Given the description of an element on the screen output the (x, y) to click on. 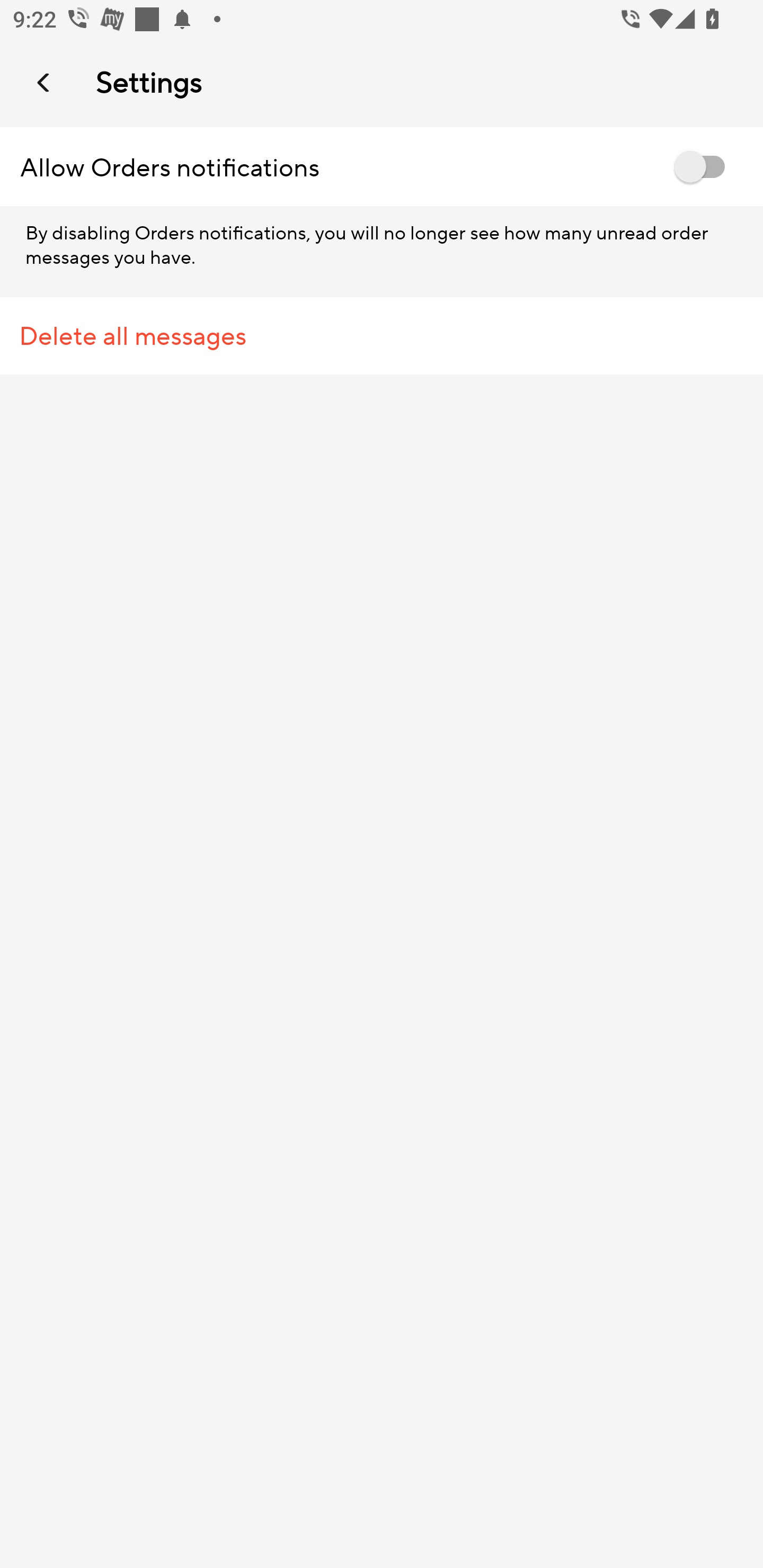
Navigate up (44, 82)
Delete all messages (381, 335)
